Given the description of an element on the screen output the (x, y) to click on. 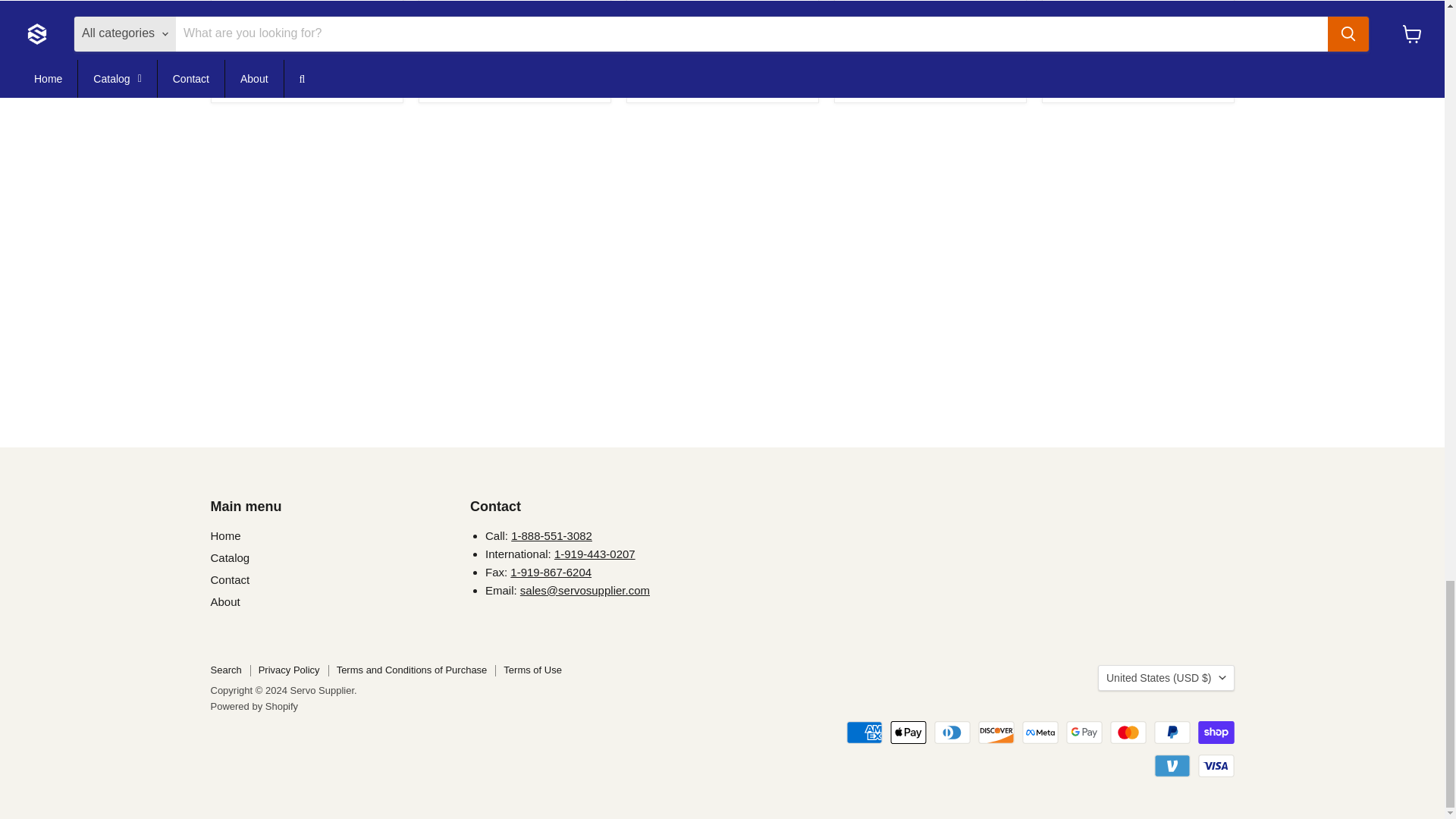
Diners Club (952, 732)
Discover (996, 732)
Meta Pay (1040, 732)
Google Pay (1083, 732)
Apple Pay (907, 732)
American Express (863, 732)
